Given the description of an element on the screen output the (x, y) to click on. 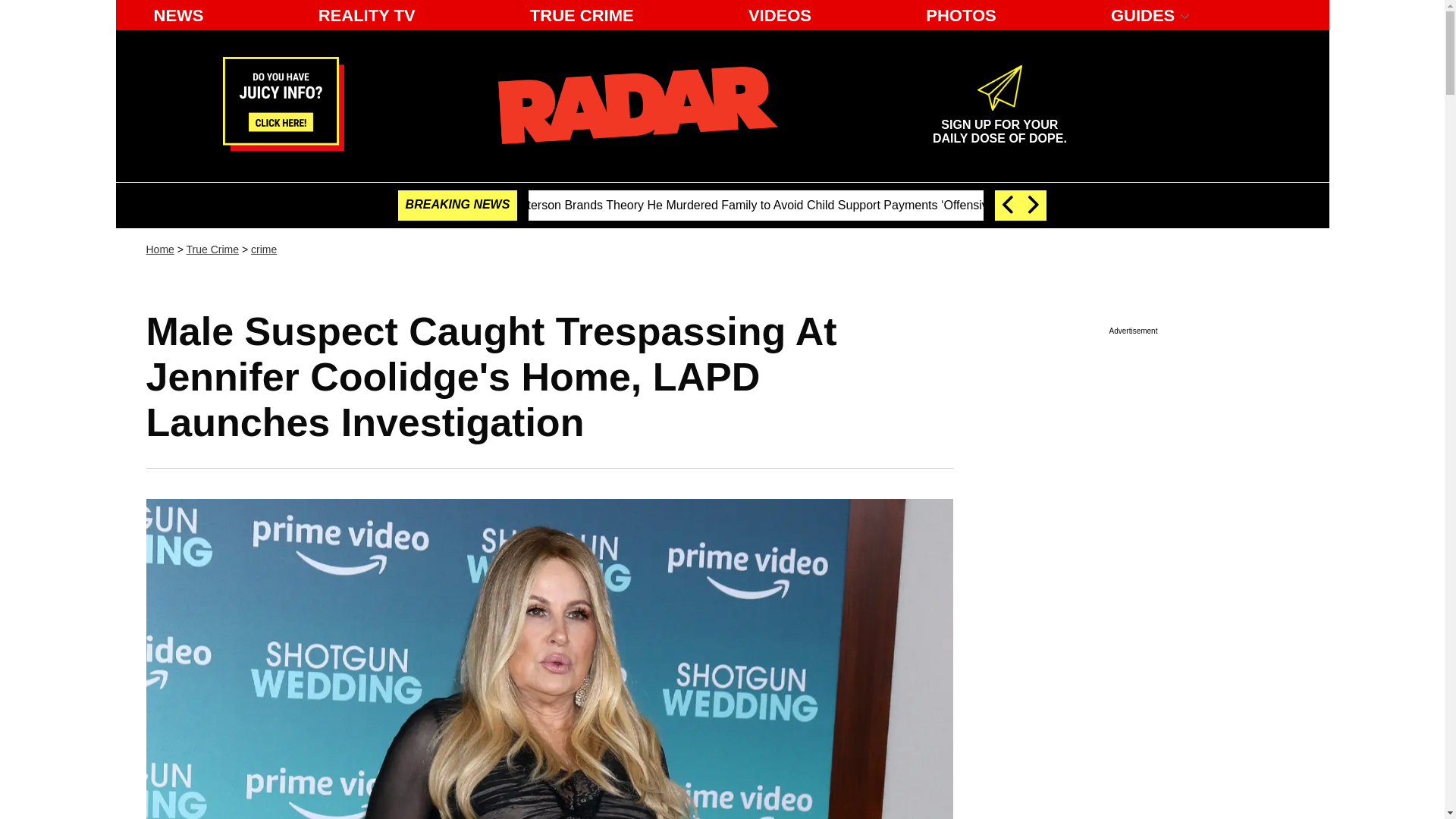
PHOTOS (961, 15)
Sign up for your daily dose of dope. (999, 124)
TRUE CRIME (582, 15)
VIDEOS (779, 15)
Email us your tip (282, 146)
crime (263, 249)
Radar Online (637, 105)
NEWS (999, 124)
True Crime (178, 15)
